Given the description of an element on the screen output the (x, y) to click on. 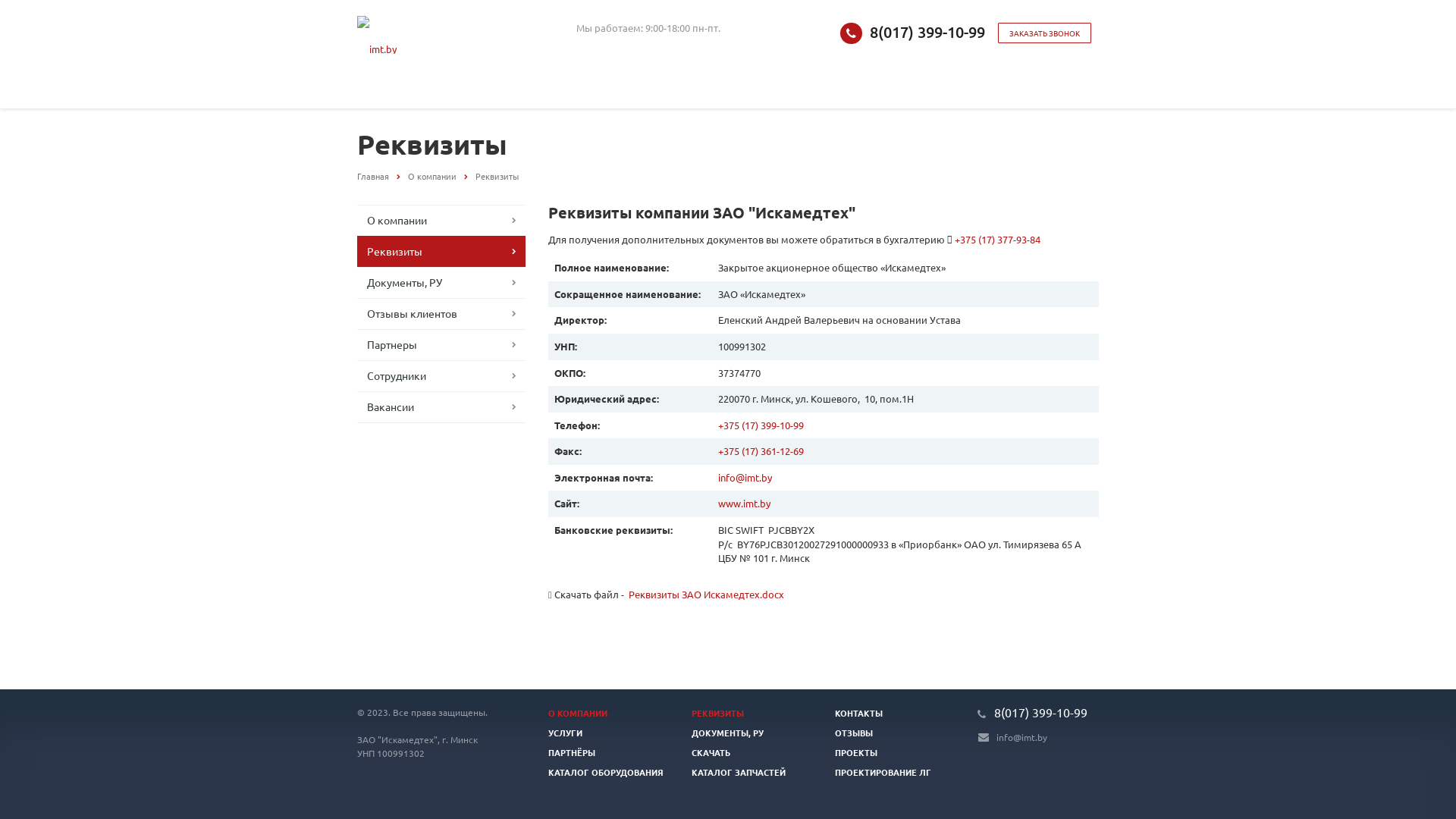
+375 (17) 399-10-99 Element type: text (760, 424)
+375 (17) 361-12-69 Element type: text (760, 450)
info@imt.by Element type: text (1021, 737)
+375 (17) 377-93-84 Element type: text (997, 238)
8(017) 399-10-99 Element type: text (1040, 711)
imt.by Element type: hover (376, 34)
info@imt.by Element type: text (744, 476)
8(017) 399-10-99 Element type: text (927, 31)
www.imt.by Element type: text (744, 502)
